Given the description of an element on the screen output the (x, y) to click on. 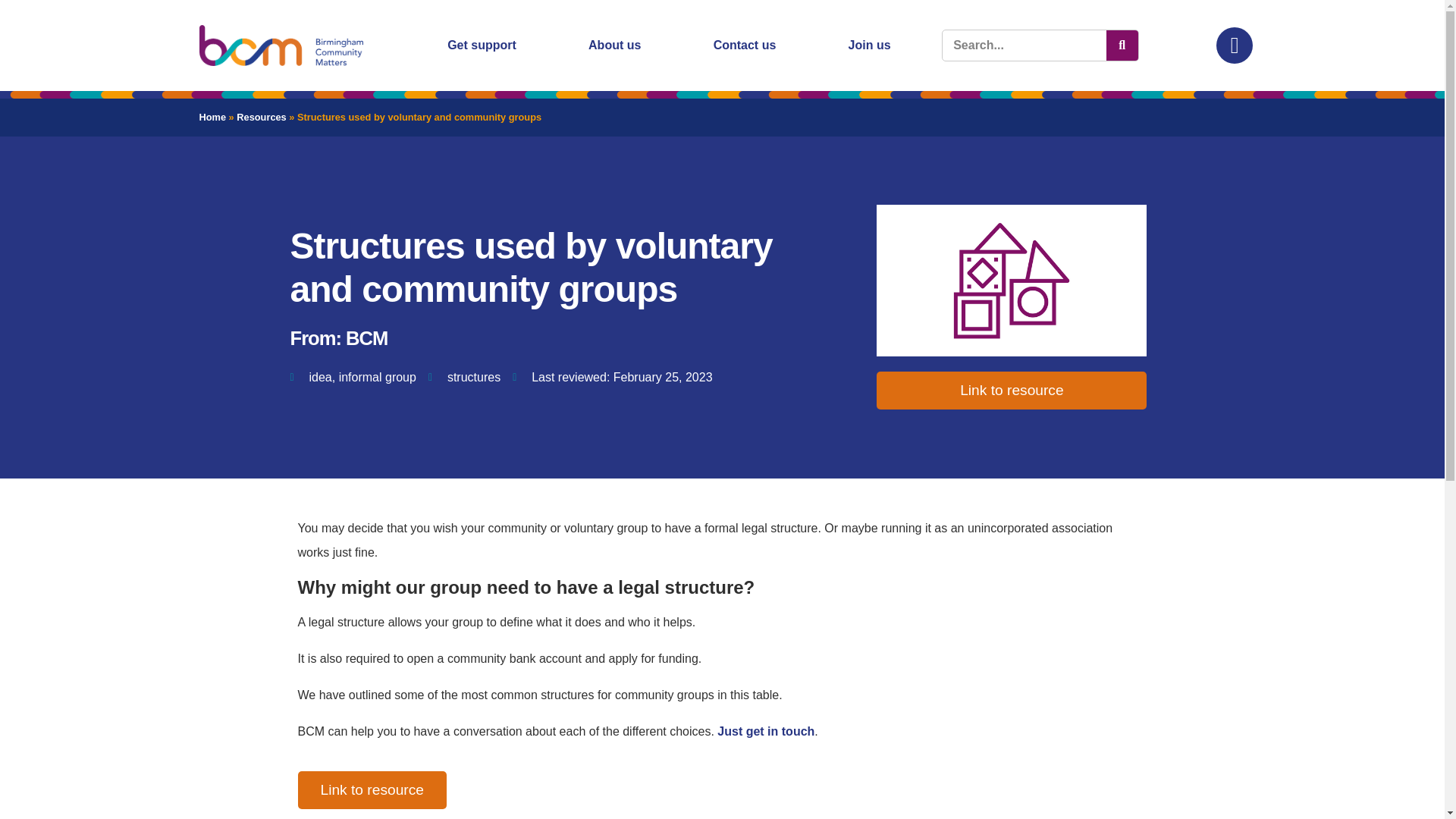
Home (211, 116)
About us (614, 45)
informal group (377, 377)
Link to resource (371, 789)
Get support (480, 45)
Resources (260, 116)
structures (473, 377)
Link to resource (1011, 389)
Join us (869, 45)
Just get in touch (765, 730)
